Given the description of an element on the screen output the (x, y) to click on. 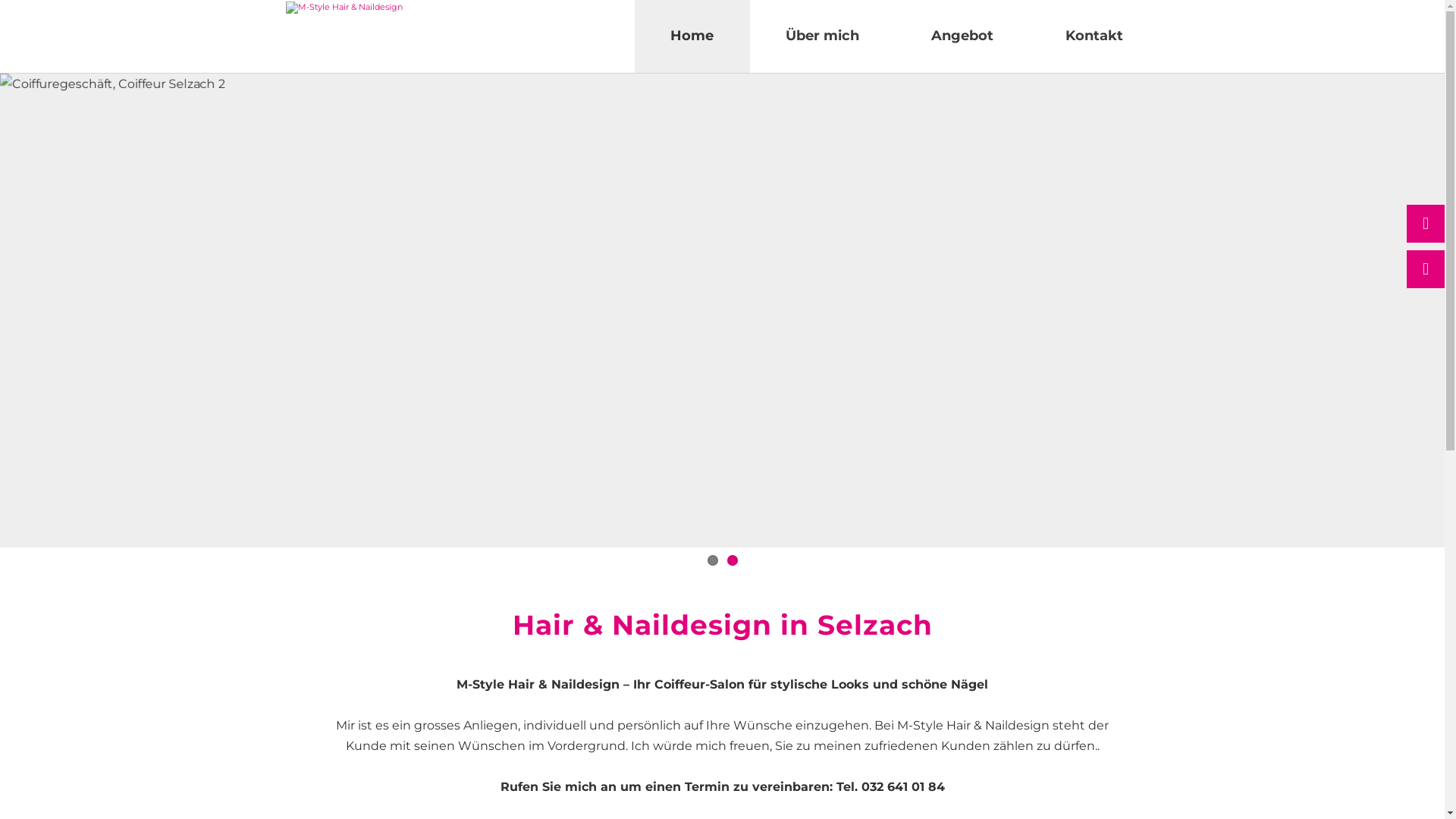
2 Element type: text (731, 560)
Angebot Element type: text (962, 35)
1 Element type: text (711, 560)
Home Element type: text (691, 35)
Kontakt Element type: text (1093, 35)
